Given the description of an element on the screen output the (x, y) to click on. 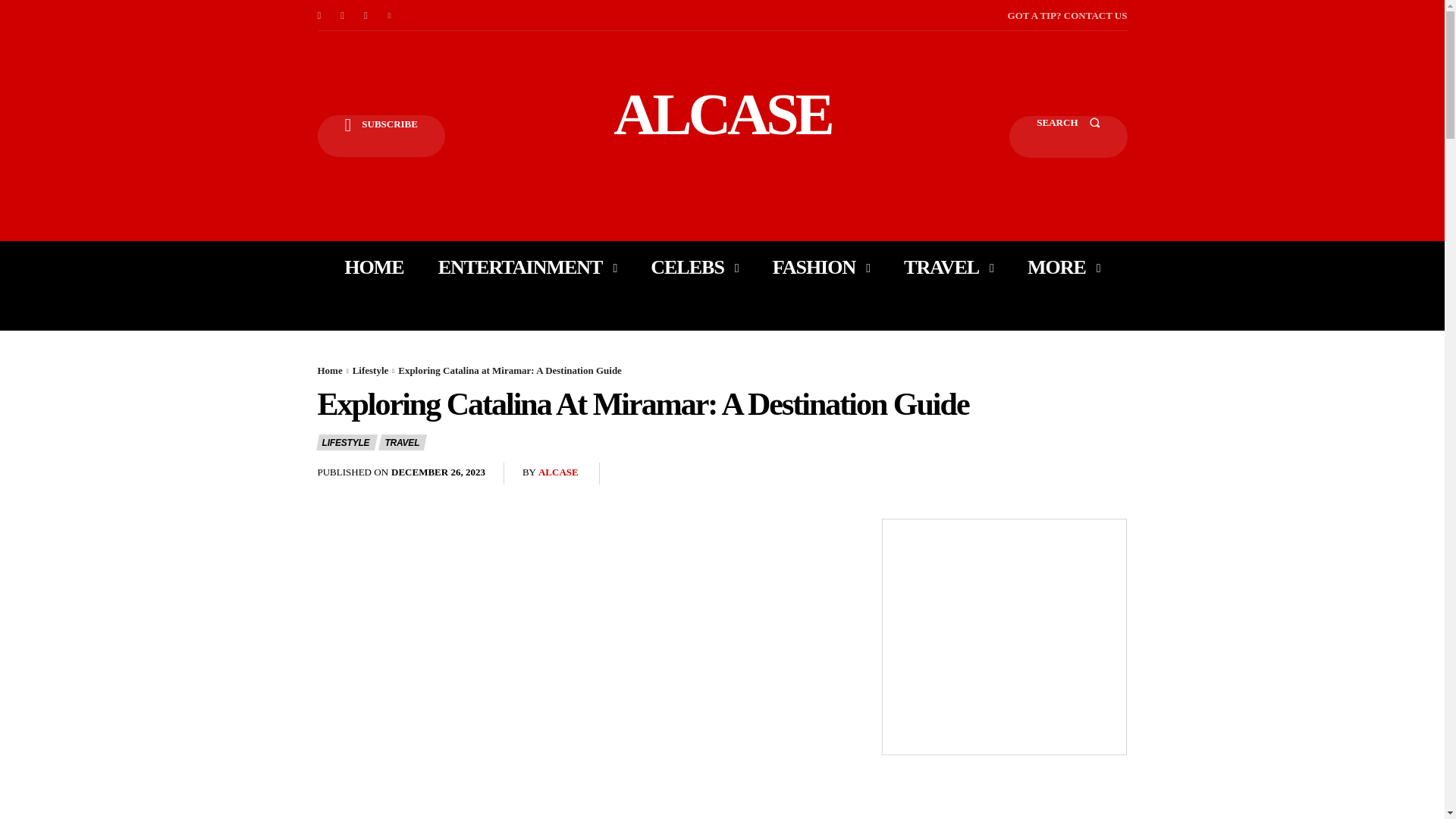
ALCASE (722, 113)
GOT A TIP? CONTACT US (1066, 15)
Instagram (342, 15)
SEARCH (1067, 137)
SUBSCRIBE (380, 136)
TikTok (366, 15)
Twitter (389, 15)
Facebook (318, 15)
